Given the description of an element on the screen output the (x, y) to click on. 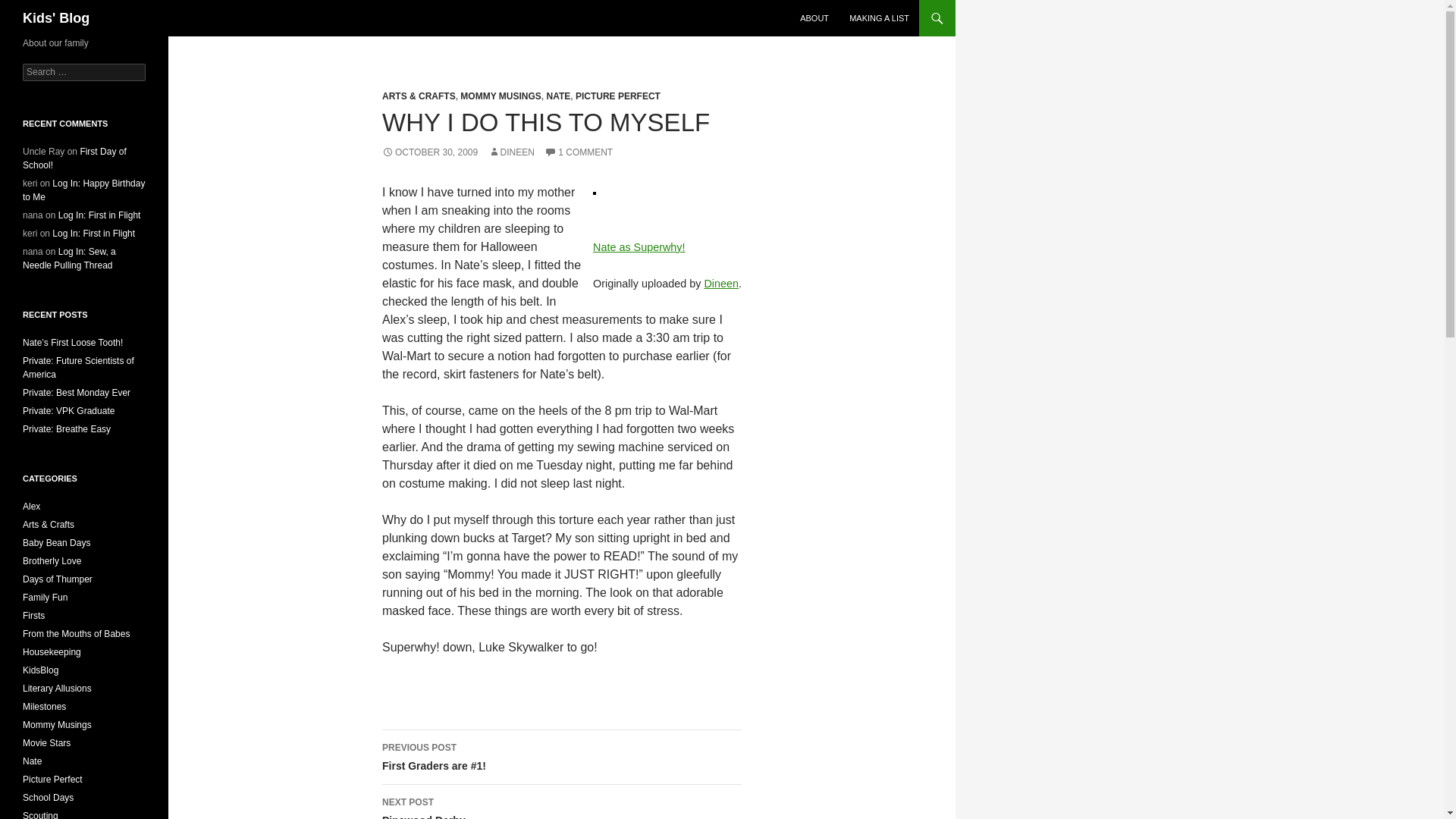
PICTURE PERFECT (618, 95)
ABOUT (814, 18)
1 COMMENT (578, 152)
Days of Thumper (58, 579)
Nate as Superwhy! (638, 246)
Baby Bean Days (56, 542)
MAKING A LIST (879, 18)
Log In: First in Flight (93, 233)
Private: Breathe Easy (66, 429)
Dineen (720, 283)
